Given the description of an element on the screen output the (x, y) to click on. 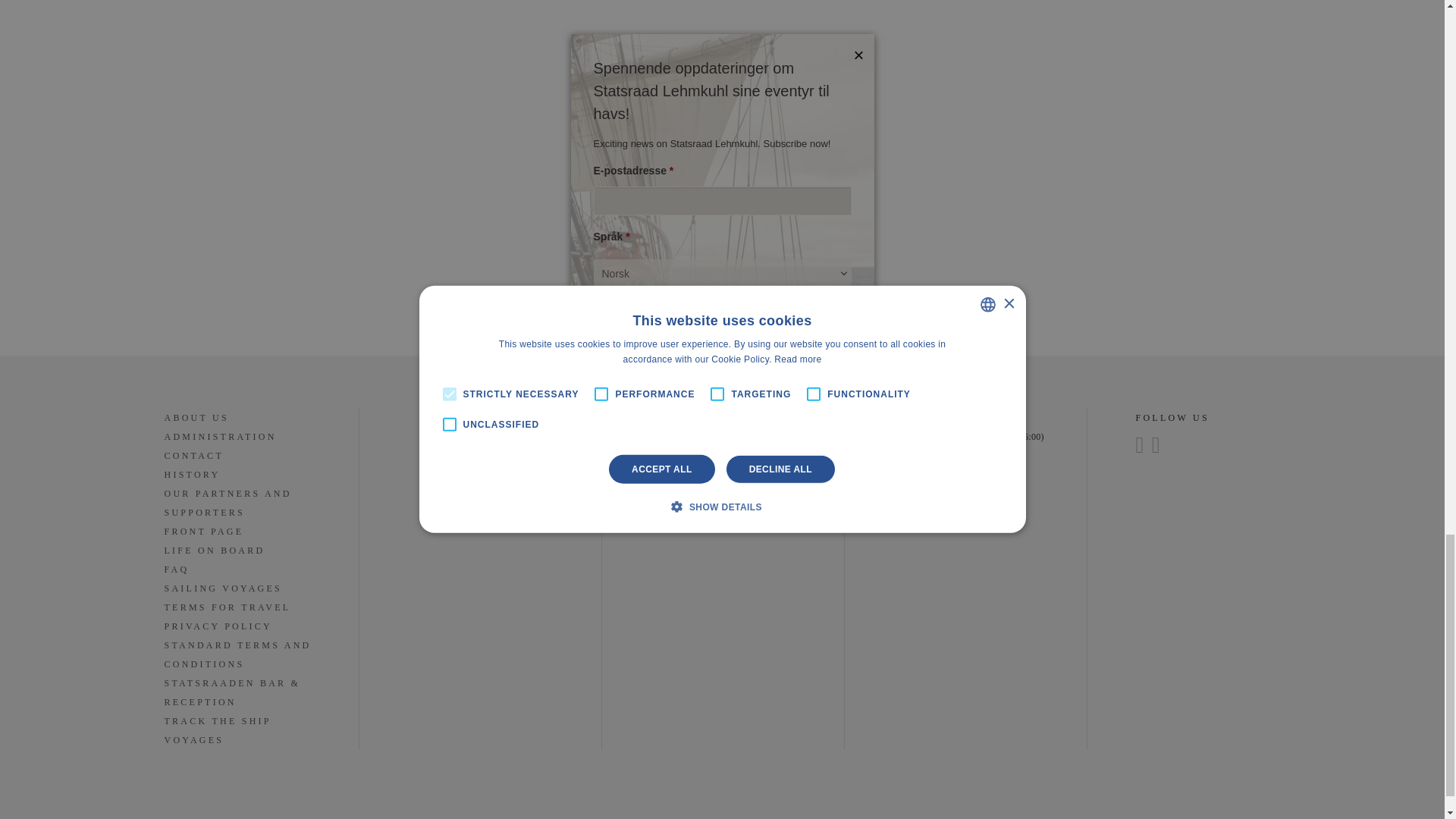
TERMS FOR TRAVEL (226, 607)
SAILING VOYAGES (222, 588)
LIFE ON BOARD (213, 550)
CONTACT (192, 455)
FAQ (176, 569)
OUR PARTNERS AND SUPPORTERS (227, 503)
FRONT PAGE (203, 531)
PRIVACY POLICY (217, 626)
ABOUT US (195, 418)
VOYAGES (193, 740)
Privacy policy (678, 493)
TRACK THE SHIP (216, 721)
HISTORY (191, 474)
ADMINISTRATION (219, 437)
STANDARD TERMS AND CONDITIONS (237, 654)
